Given the description of an element on the screen output the (x, y) to click on. 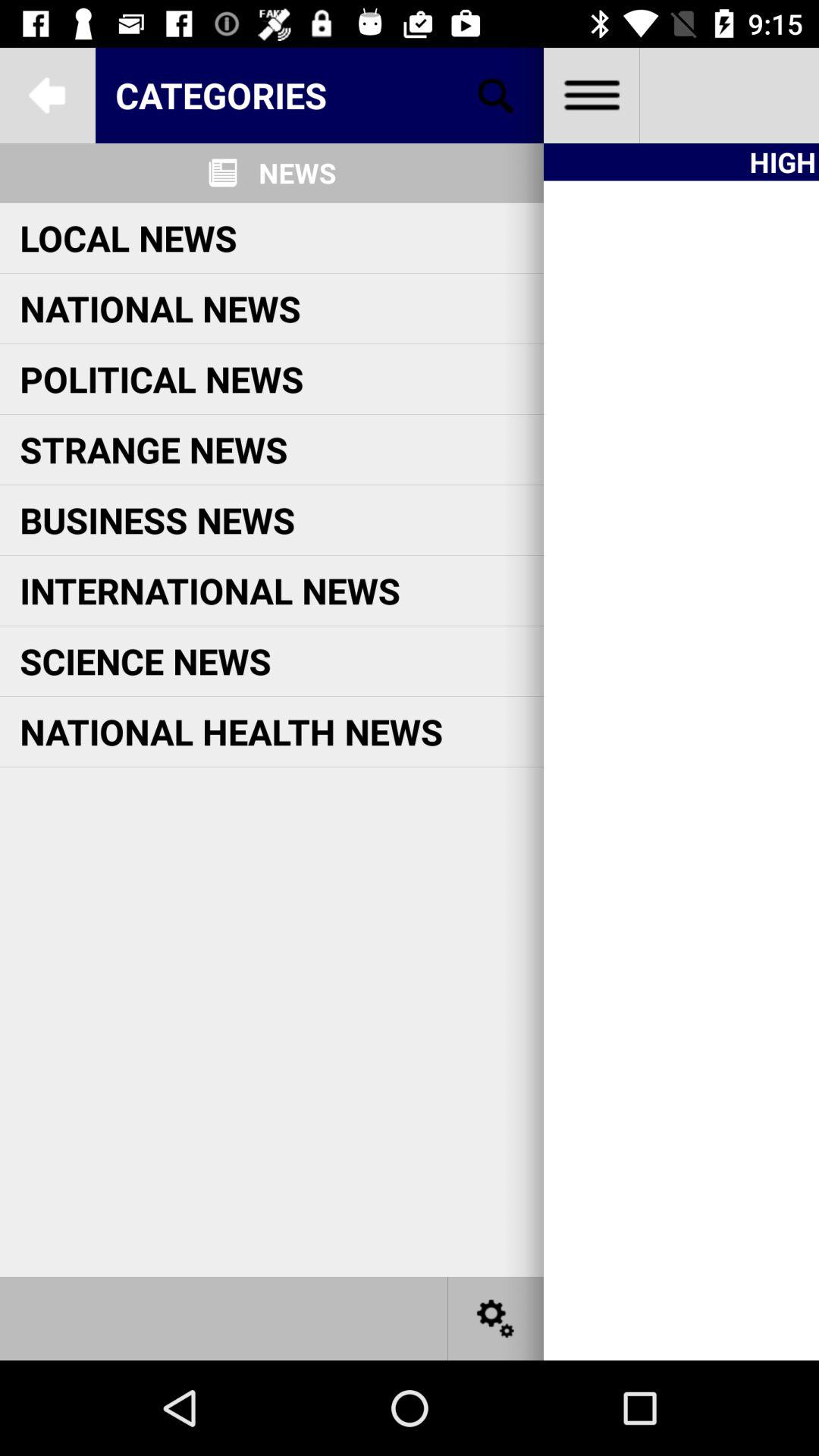
search (495, 95)
